Given the description of an element on the screen output the (x, y) to click on. 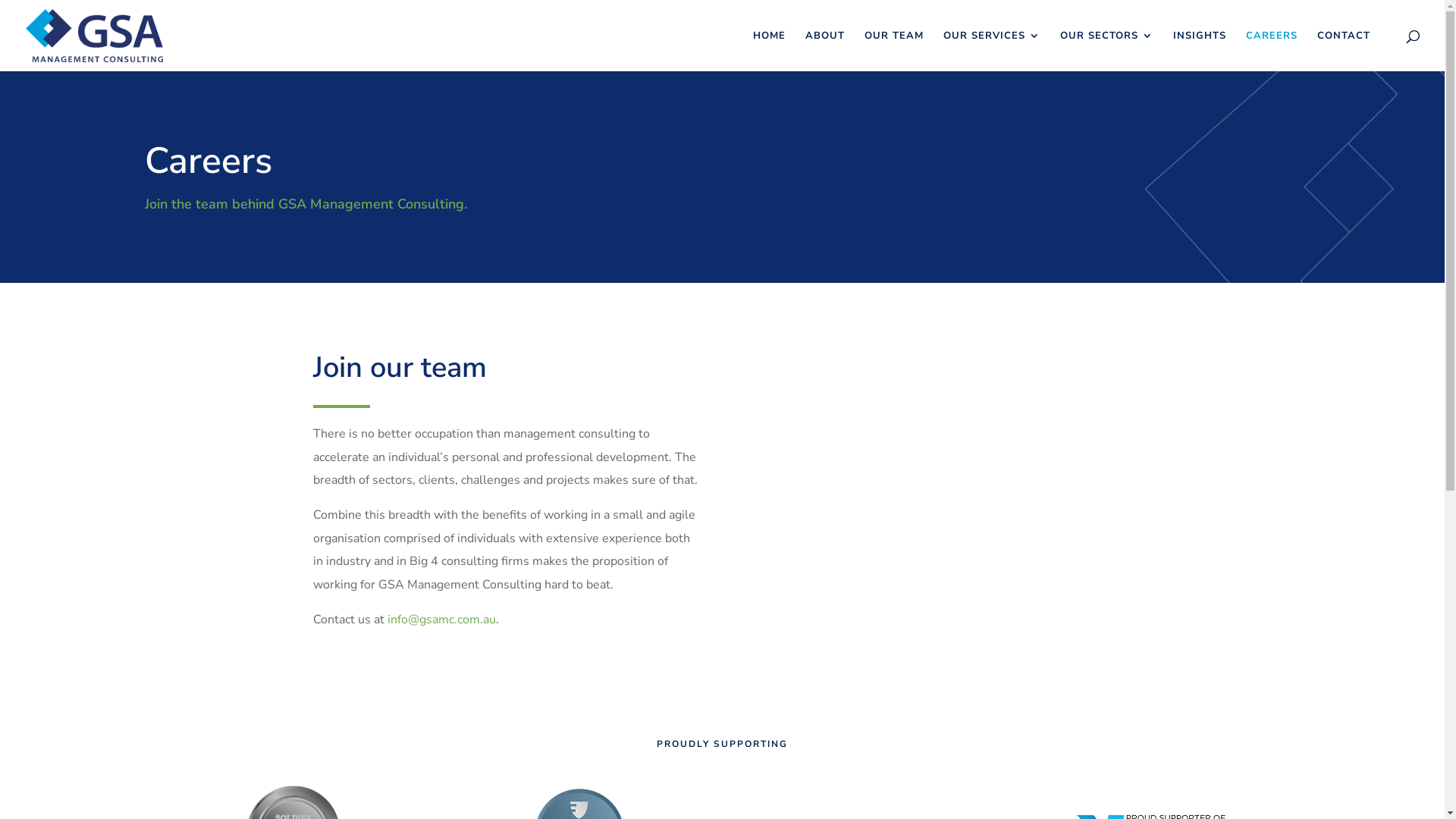
info@gsamc.com.au Element type: text (440, 619)
OUR SECTORS Element type: text (1106, 50)
OUR SERVICES Element type: text (991, 50)
HOME Element type: text (769, 50)
ABOUT Element type: text (824, 50)
CONTACT Element type: text (1343, 50)
CAREERS Element type: text (1271, 50)
OUR TEAM Element type: text (893, 50)
INSIGHTS Element type: text (1199, 50)
